Given the description of an element on the screen output the (x, y) to click on. 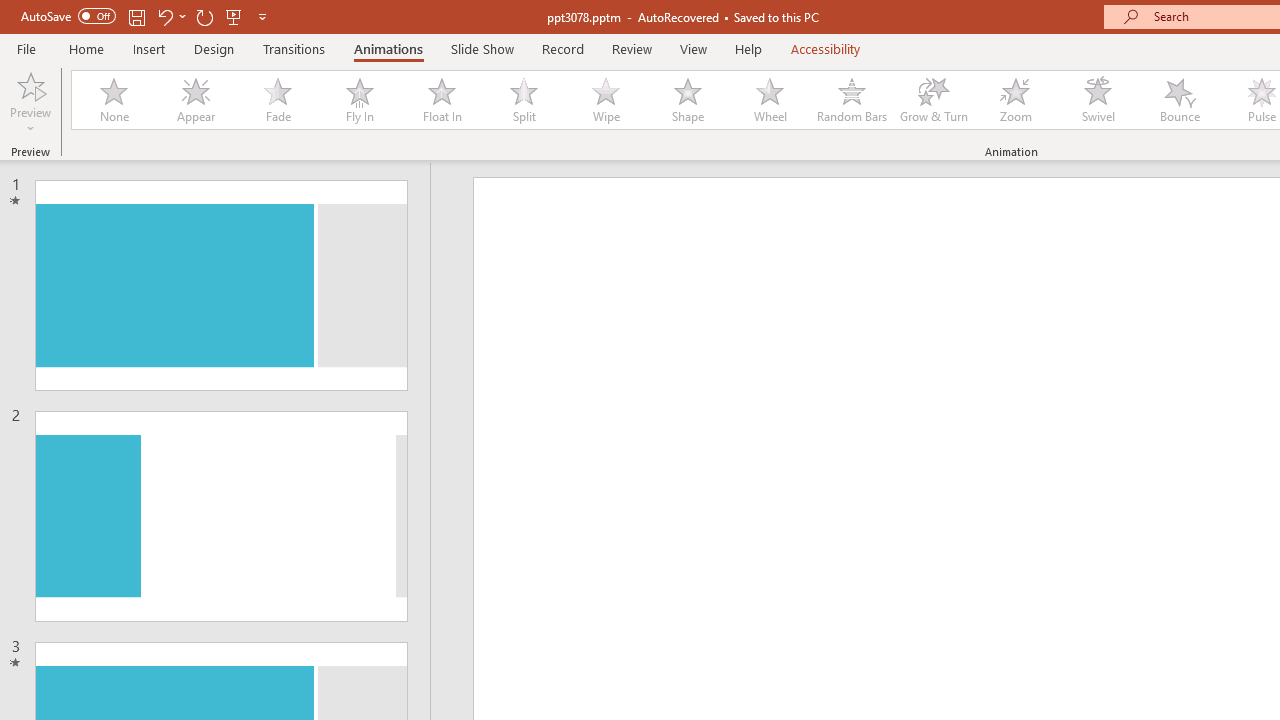
System (10, 11)
Design (214, 48)
Quick Access Toolbar (145, 16)
Wheel (770, 100)
Float In (441, 100)
More Options (30, 121)
Preview (30, 102)
Wipe (605, 100)
Fly In (359, 100)
Save (136, 15)
Accessibility (825, 48)
